Given the description of an element on the screen output the (x, y) to click on. 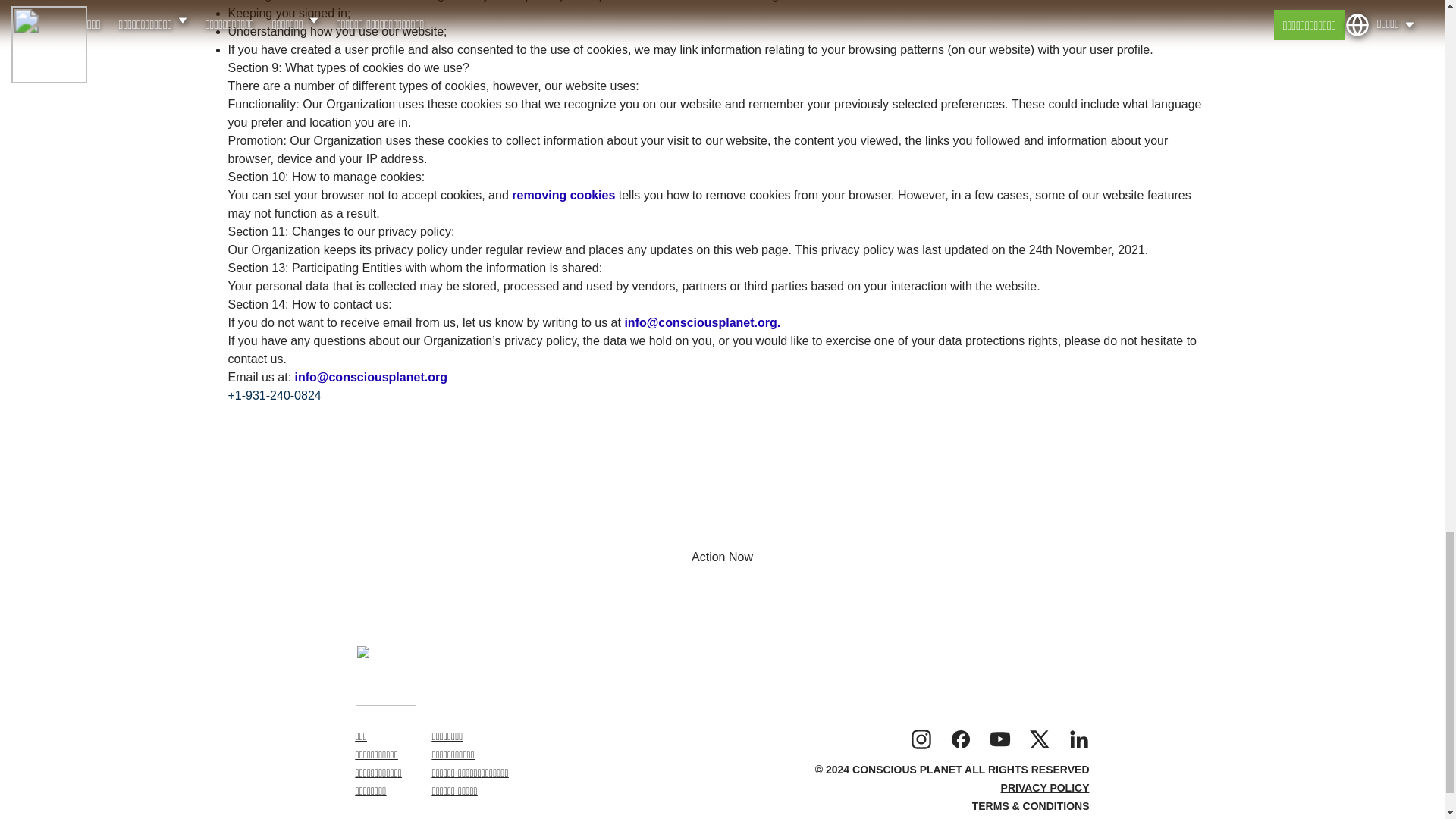
PRIVACY POLICY (1045, 787)
Action Now (721, 556)
removing cookies (565, 195)
